Given the description of an element on the screen output the (x, y) to click on. 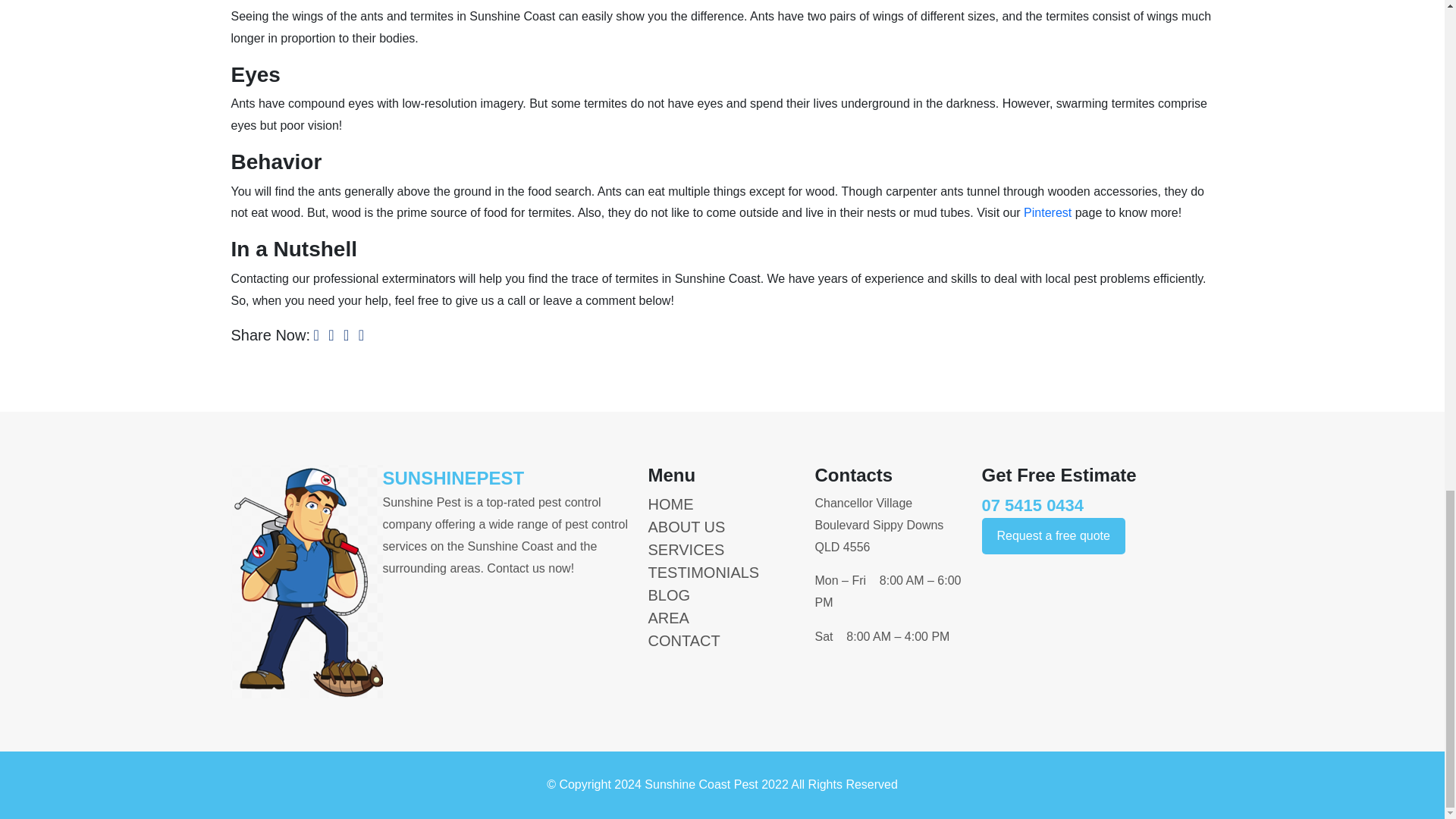
Pinterest (1047, 212)
